Given the description of an element on the screen output the (x, y) to click on. 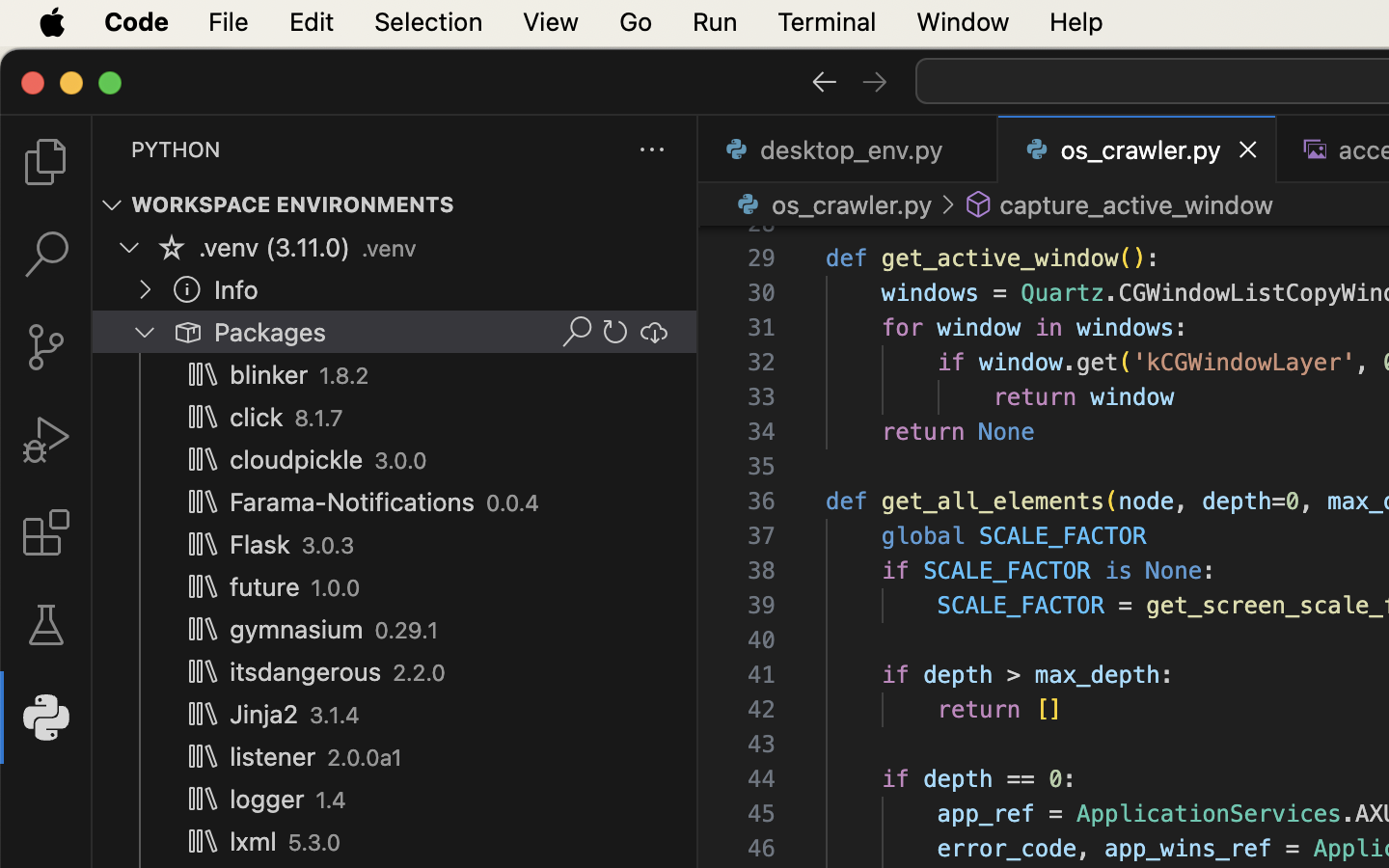
 Element type: AXStaticText (111, 204)
 Element type: AXStaticText (947, 204)
3.1.4 Element type: AXStaticText (334, 715)
Farama-Notifications Element type: AXStaticText (352, 502)
.venv (3.11.0) Element type: AXStaticText (274, 247)
